Given the description of an element on the screen output the (x, y) to click on. 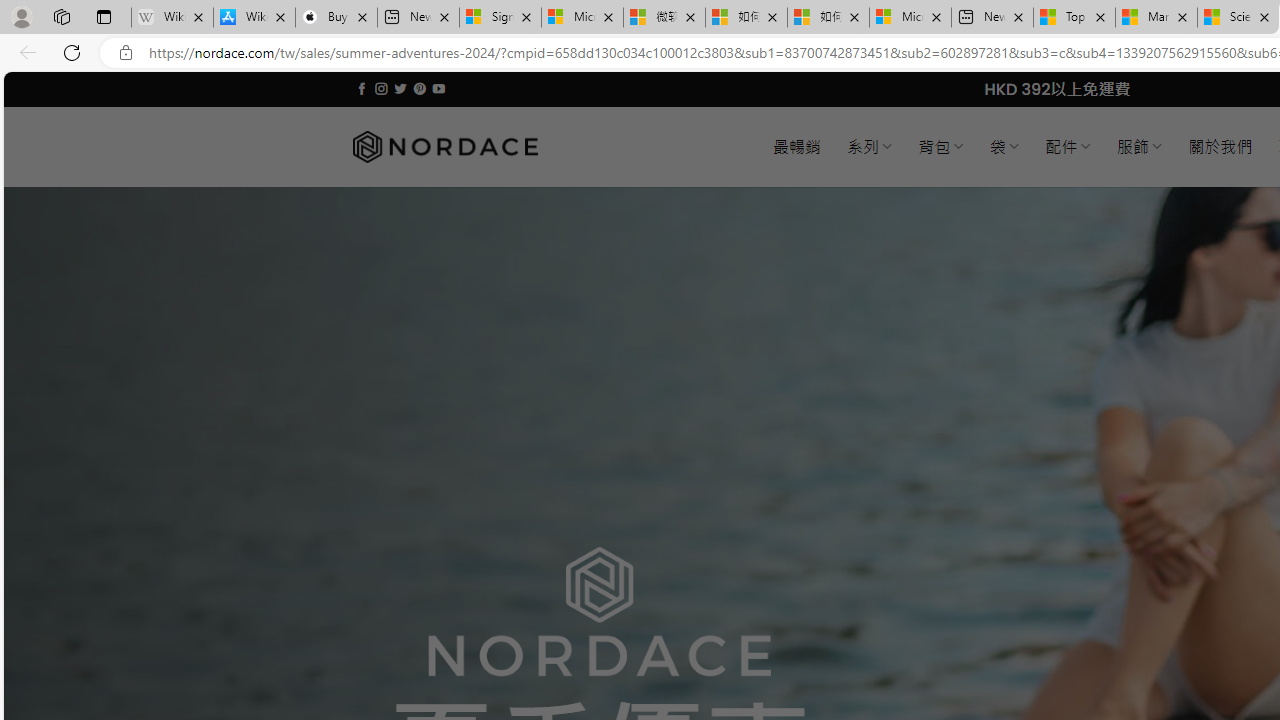
New tab (992, 17)
View site information (125, 53)
Top Stories - MSN (1074, 17)
Follow on YouTube (438, 88)
Follow on Facebook (361, 88)
Workspaces (61, 16)
Follow on Pinterest (419, 88)
